Given the description of an element on the screen output the (x, y) to click on. 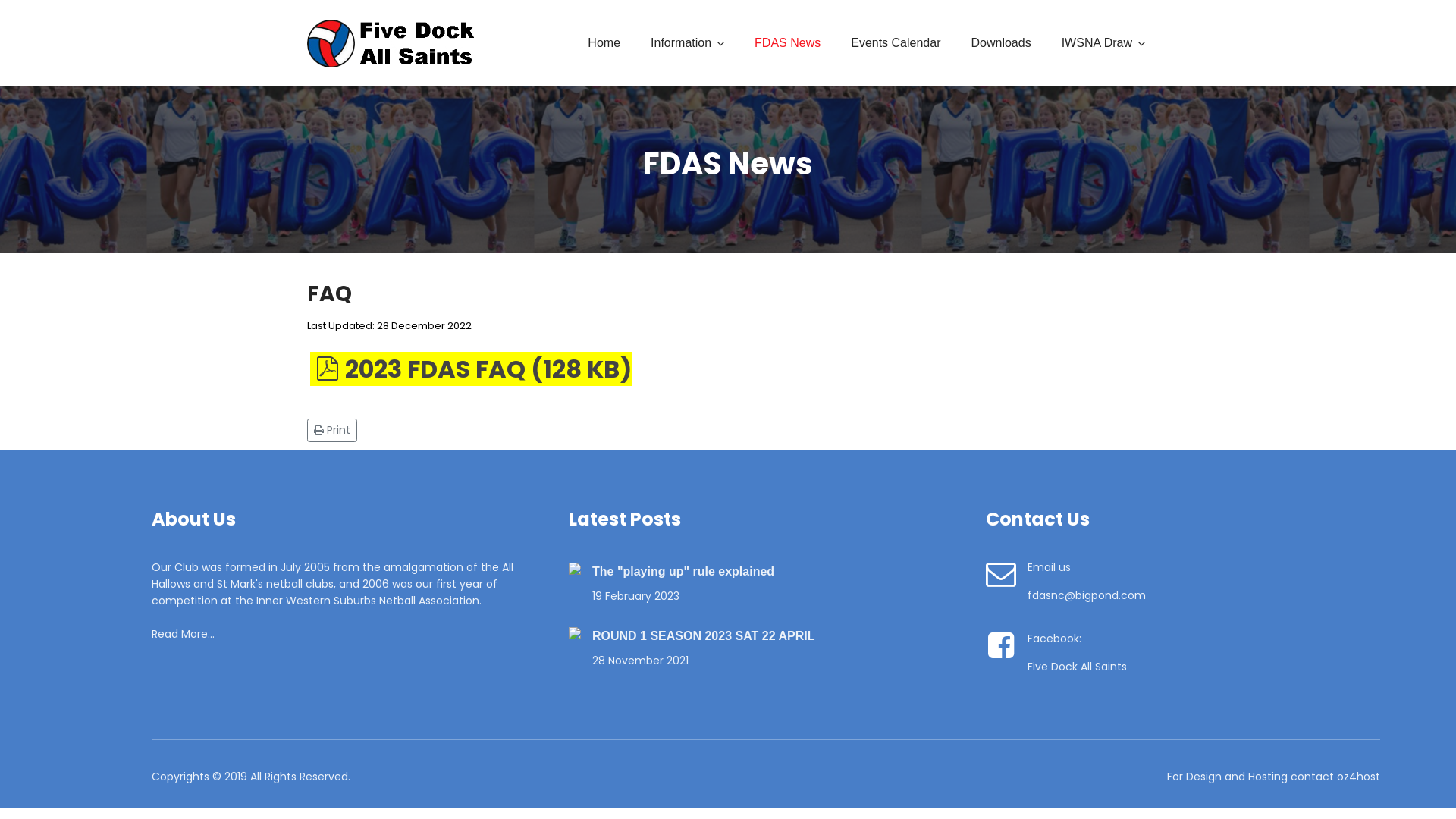
Print Element type: text (333, 429)
Five Dock All Saints Element type: text (1076, 666)
Events Calendar Element type: text (895, 43)
IWSNA Draw Element type: text (1103, 43)
The "playing up" rule explained Element type: text (777, 571)
pdf
2023 FDAS FAQ (128 KB) Element type: text (470, 368)
oz4host Element type: text (1358, 776)
fdasnc@bigpond.com Element type: text (1086, 594)
Home Element type: text (603, 43)
Downloads Element type: text (1000, 43)
Read More... Element type: text (182, 633)
Information Element type: text (687, 43)
FDAS News Element type: text (787, 43)
ROUND 1 SEASON 2023 SAT 22 APRIL Element type: text (777, 636)
